Given the description of an element on the screen output the (x, y) to click on. 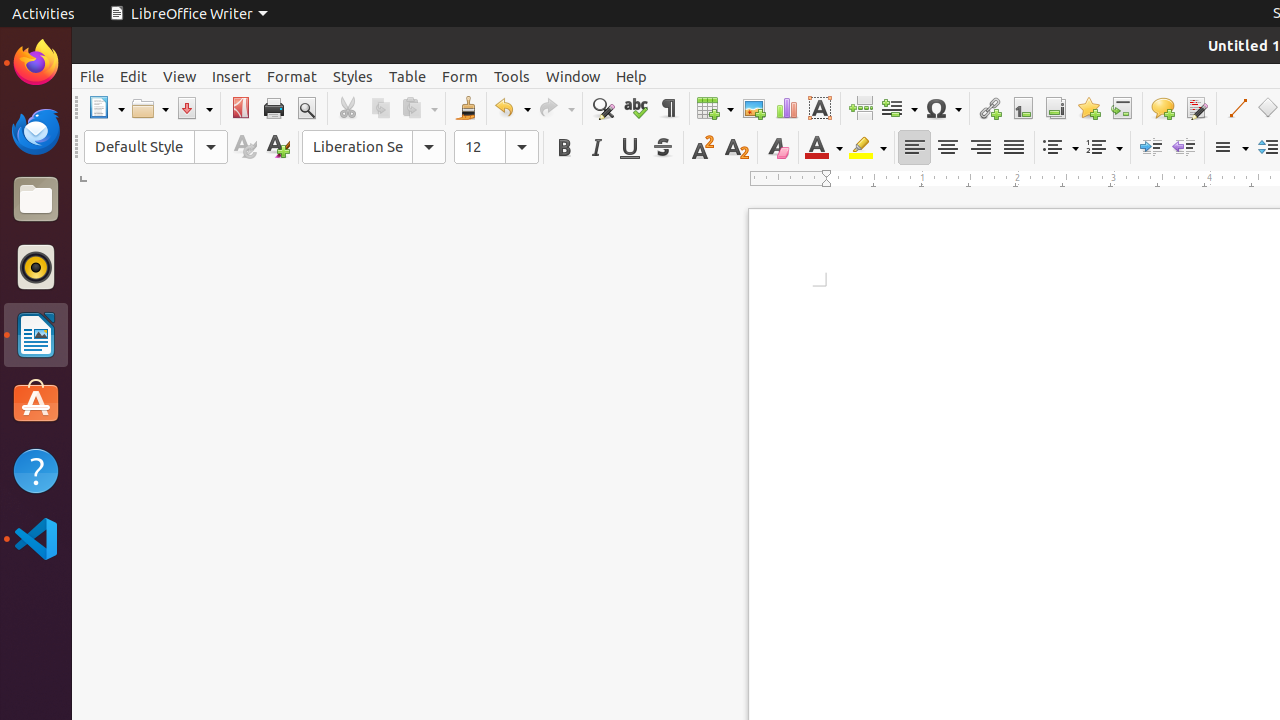
Ubuntu Software Element type: push-button (36, 402)
Cut Element type: push-button (347, 108)
Save Element type: push-button (194, 108)
Center Element type: toggle-button (947, 147)
Bullets Element type: push-button (1060, 147)
